Given the description of an element on the screen output the (x, y) to click on. 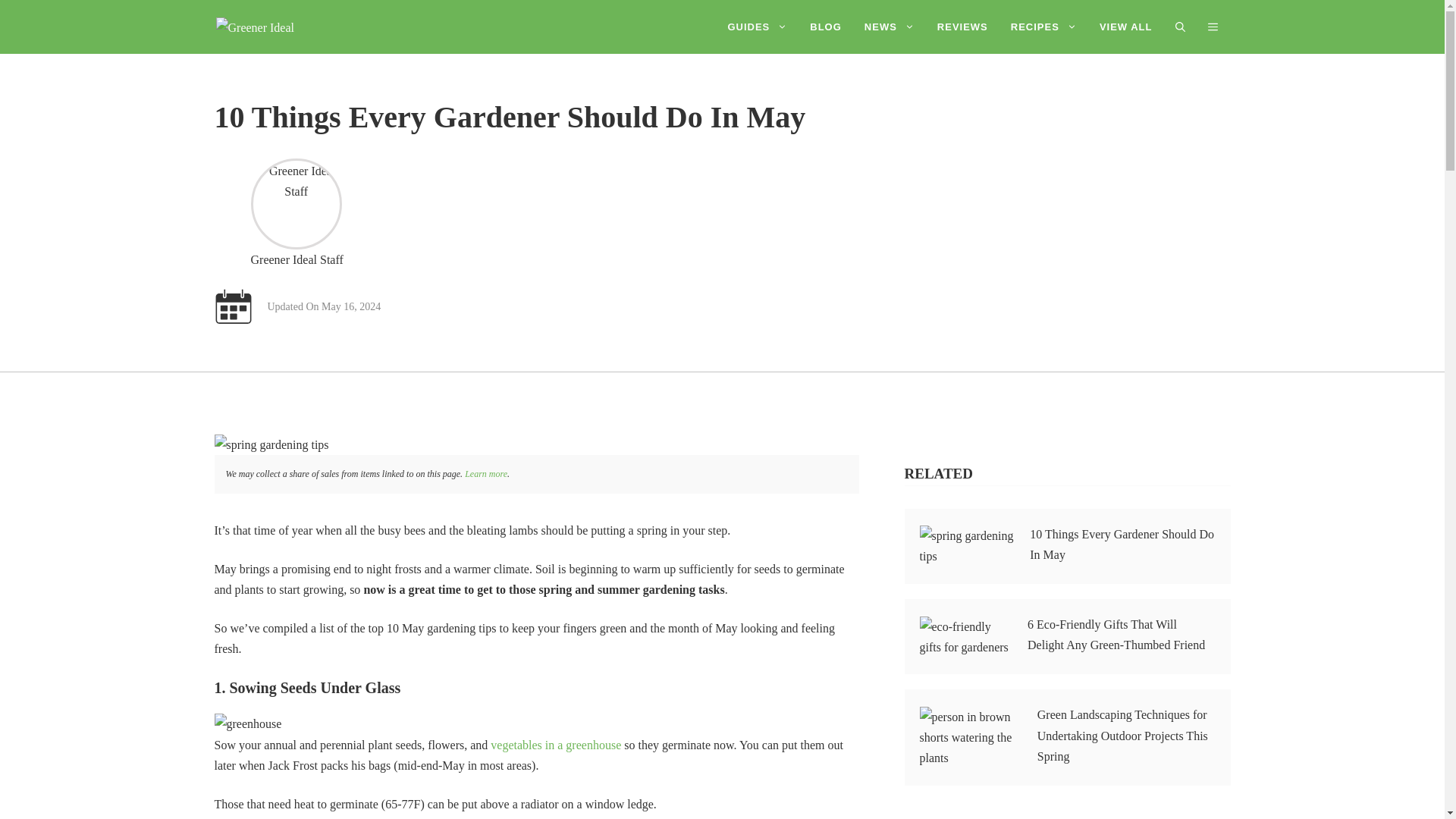
RECIPES (1042, 27)
NEWS (889, 27)
Learn more (485, 473)
Greener Ideal Staff (296, 259)
VIEW ALL (1125, 27)
Greener Ideal Staff (296, 259)
BLOG (825, 27)
GUIDES (756, 27)
Greener Ideal Staff (296, 202)
REVIEWS (962, 27)
